Given the description of an element on the screen output the (x, y) to click on. 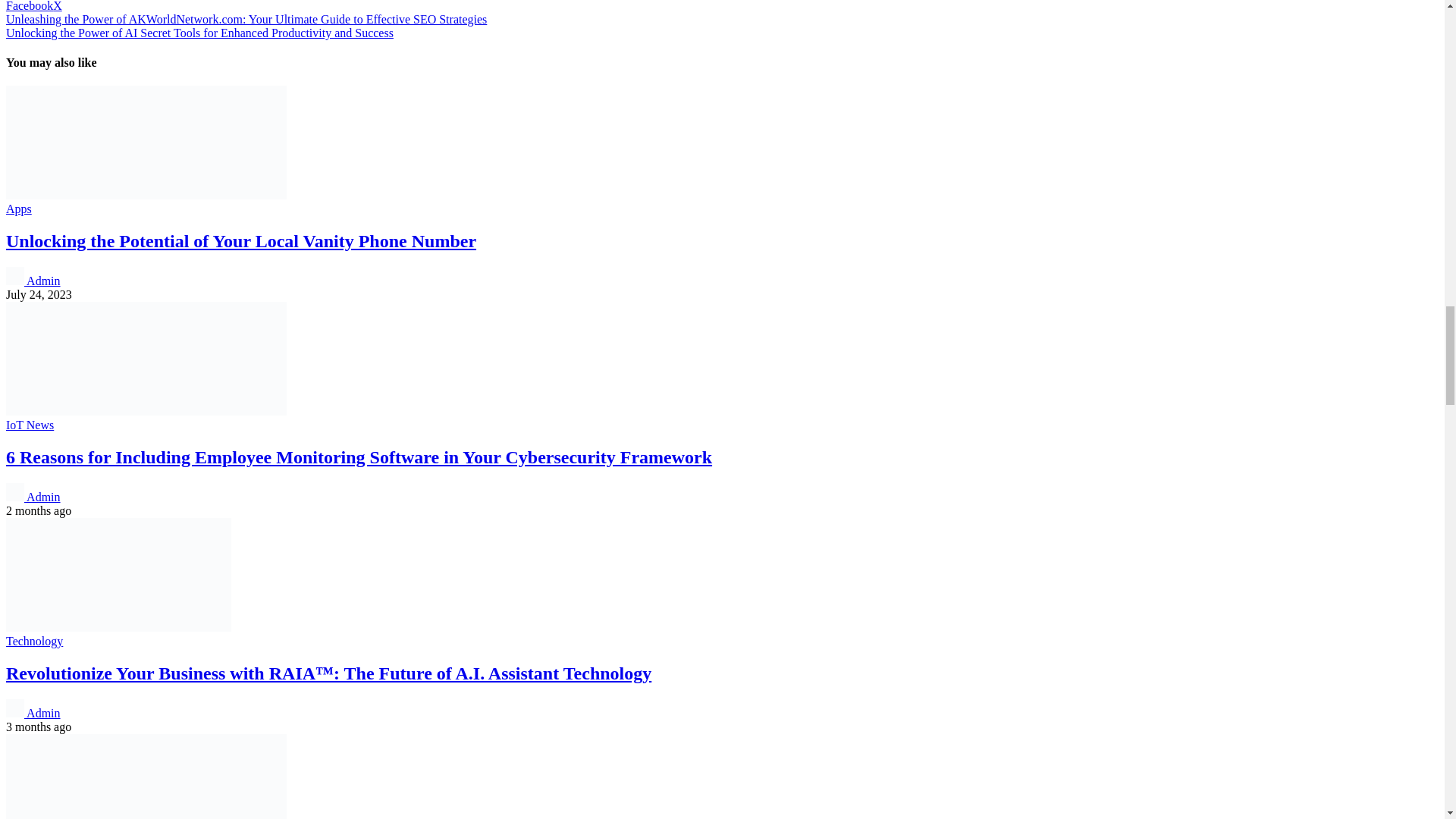
Unlocking the Potential of Your Local Vanity Phone Number (145, 195)
